Given the description of an element on the screen output the (x, y) to click on. 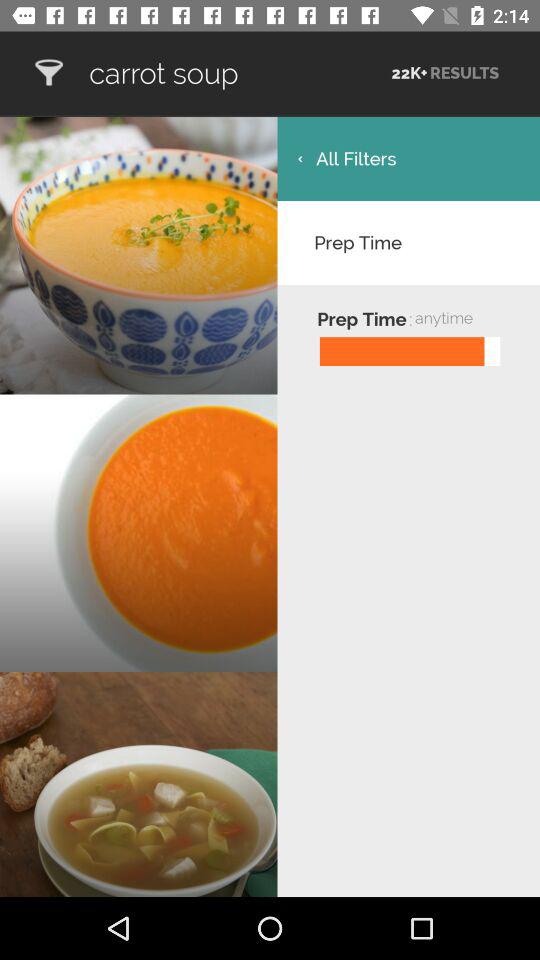
press icon next to the carrot soup item (48, 72)
